Given the description of an element on the screen output the (x, y) to click on. 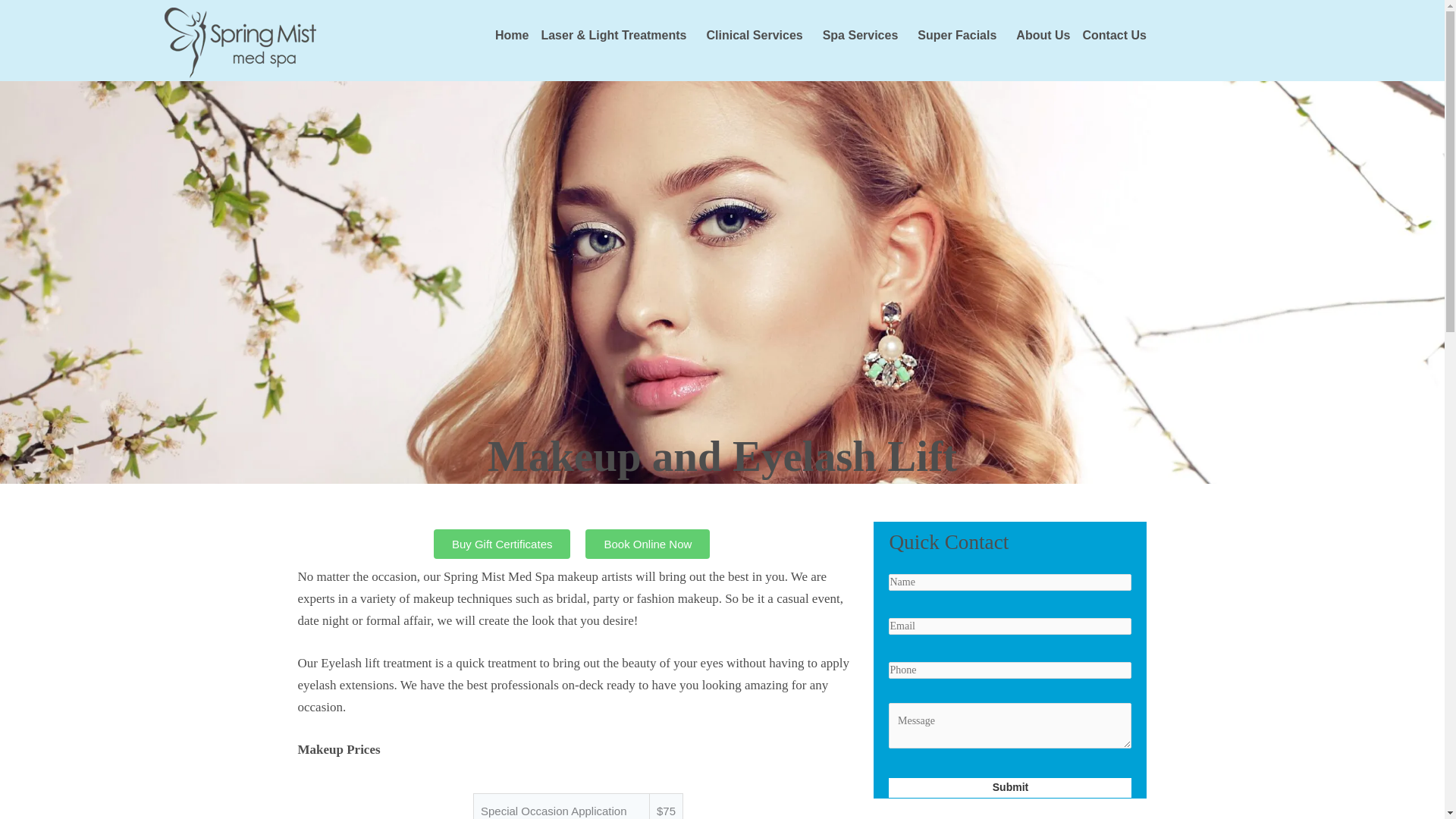
Home (511, 35)
Spa Services (864, 35)
Contact Us (1113, 35)
About Us (1042, 35)
Clinical Services (757, 35)
Super Facials (960, 35)
Submit (1009, 787)
